Given the description of an element on the screen output the (x, y) to click on. 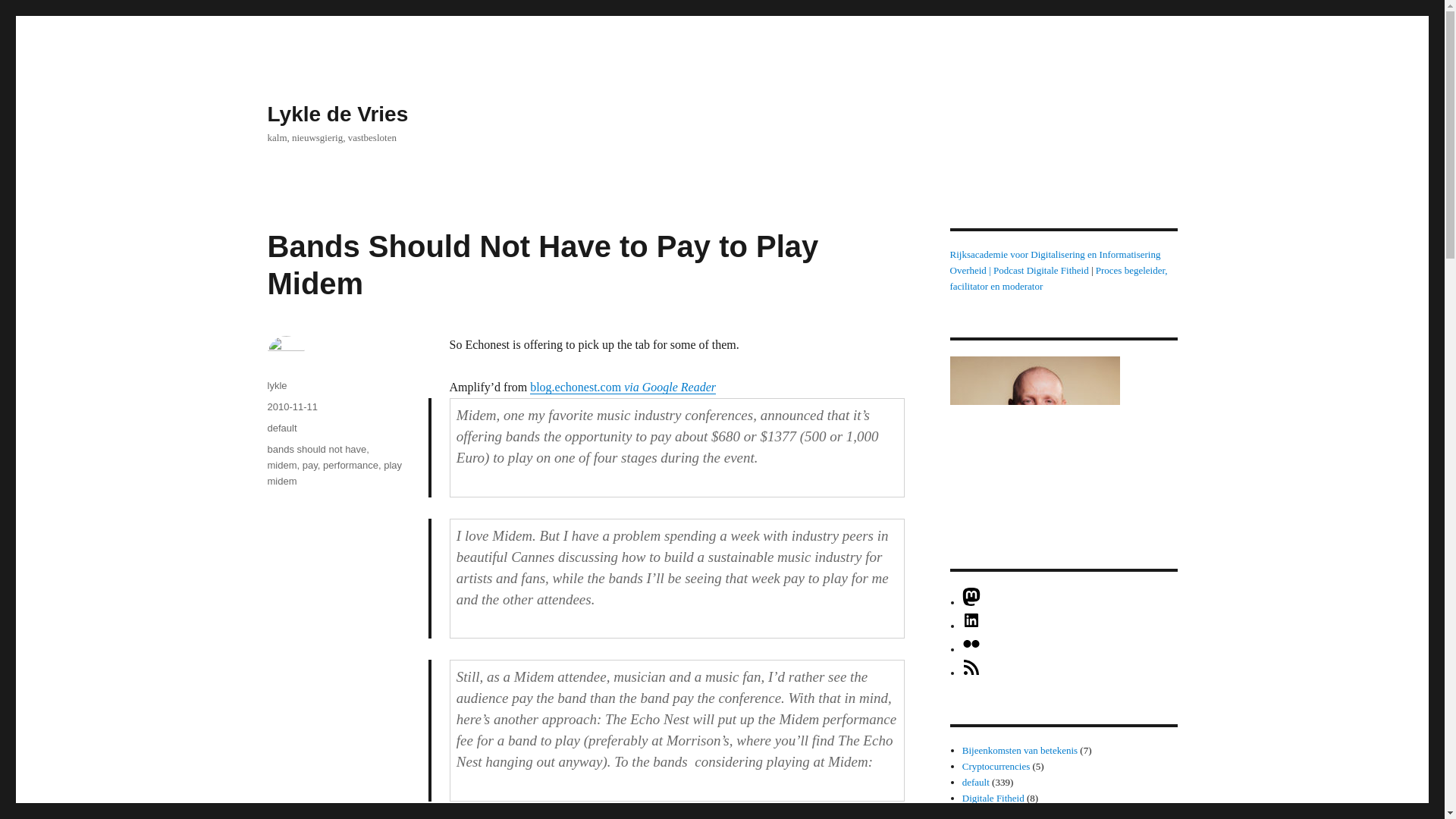
default (281, 428)
LinkedIn (970, 625)
lykle (276, 385)
Lykle de Vries (336, 114)
Bijeenkomsten van betekenis (1019, 749)
blog.echonest.com via Google Reader (622, 386)
bands should not have (316, 449)
Flickr (970, 649)
Podcast Digitale Fitheid (1040, 270)
RSS Feed (970, 672)
